Given the description of an element on the screen output the (x, y) to click on. 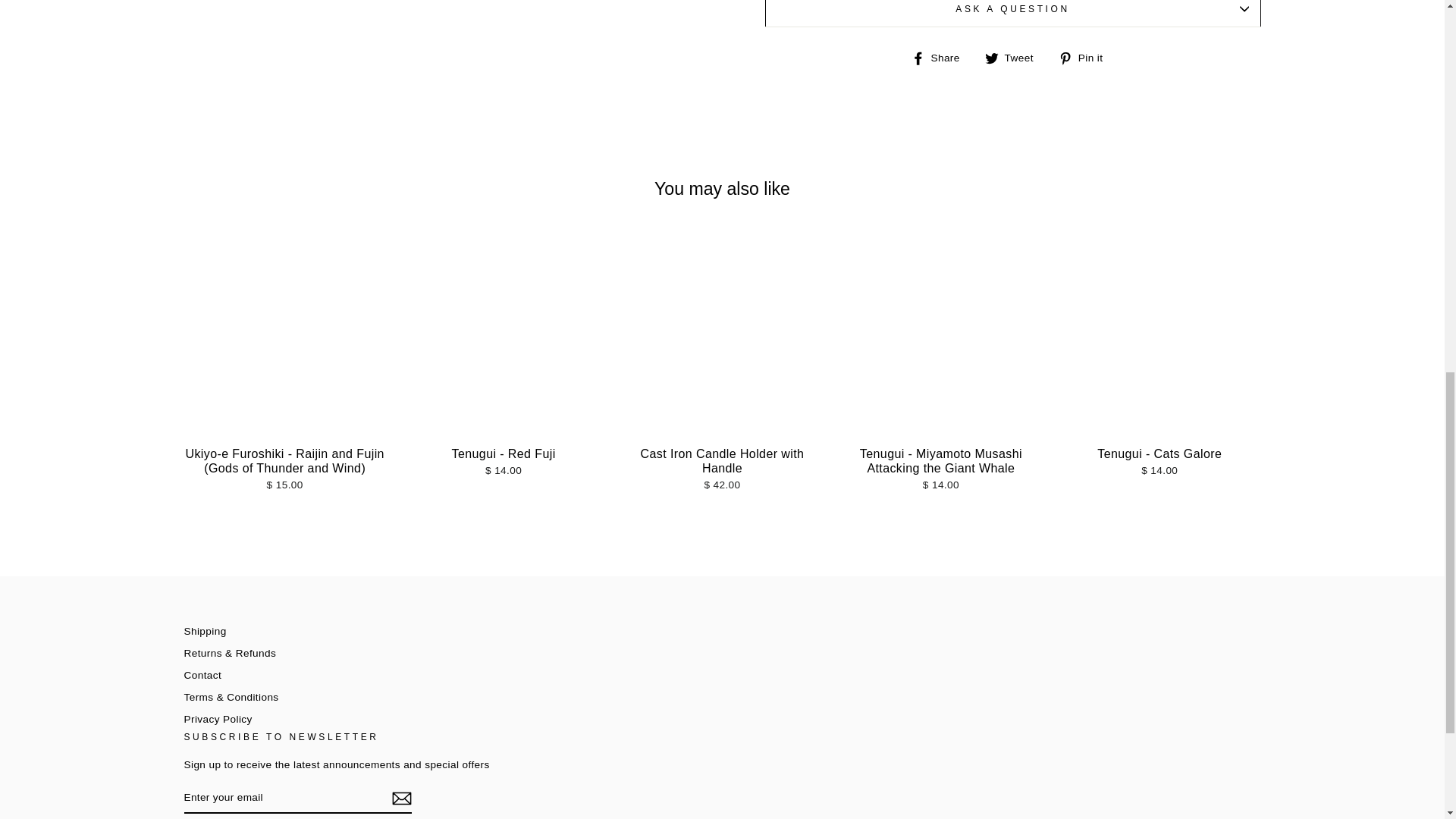
Tweet on Twitter (1015, 57)
Pin on Pinterest (1085, 57)
Share on Facebook (941, 57)
